Given the description of an element on the screen output the (x, y) to click on. 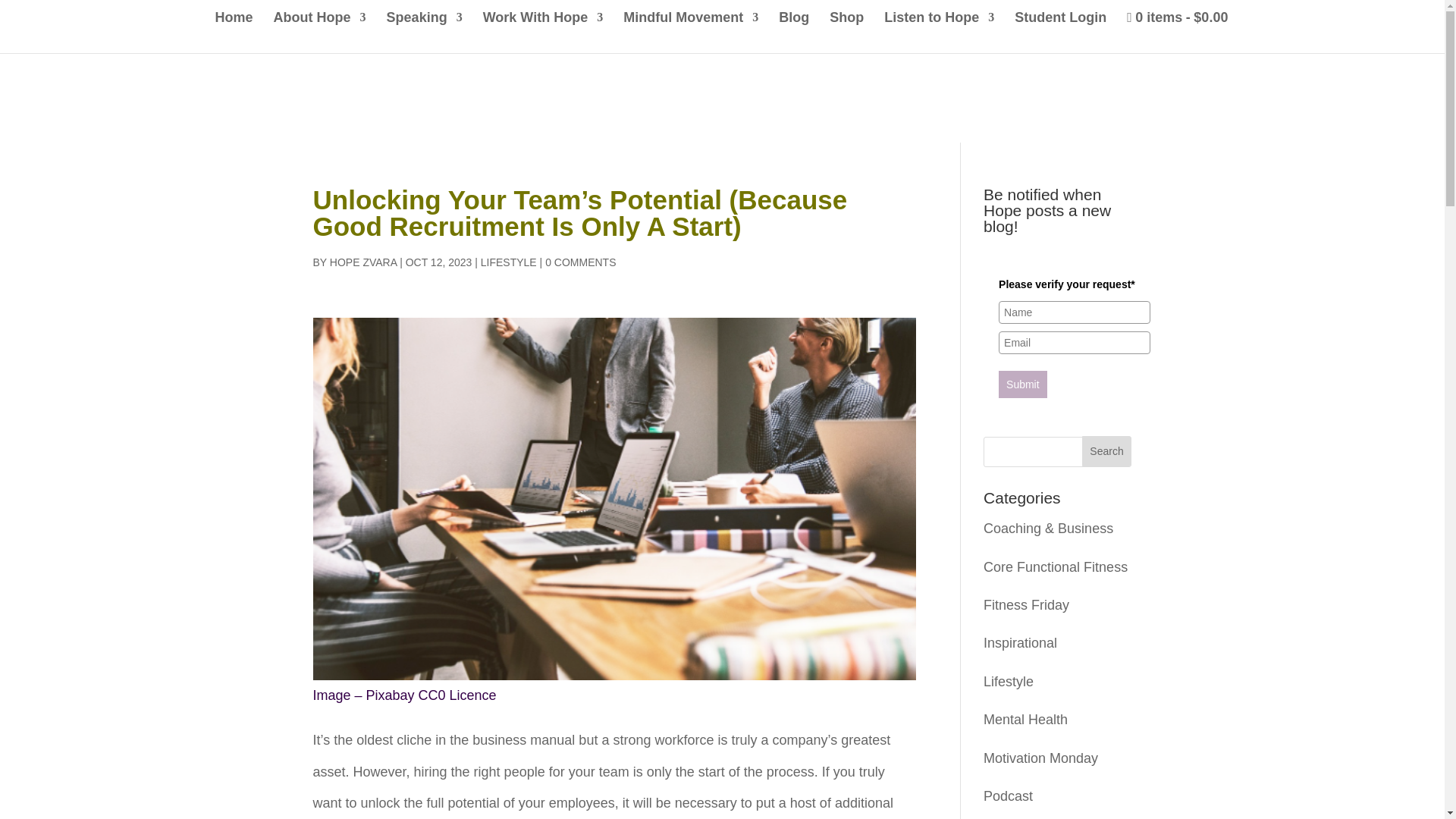
Shop (846, 30)
HOPE ZVARA (363, 262)
LIFESTYLE (508, 262)
Student Login (1060, 30)
Posts by Hope Zvara (363, 262)
0 COMMENTS (579, 262)
About Hope (319, 30)
Search (1106, 450)
Home (234, 30)
Listen to Hope (938, 30)
